Given the description of an element on the screen output the (x, y) to click on. 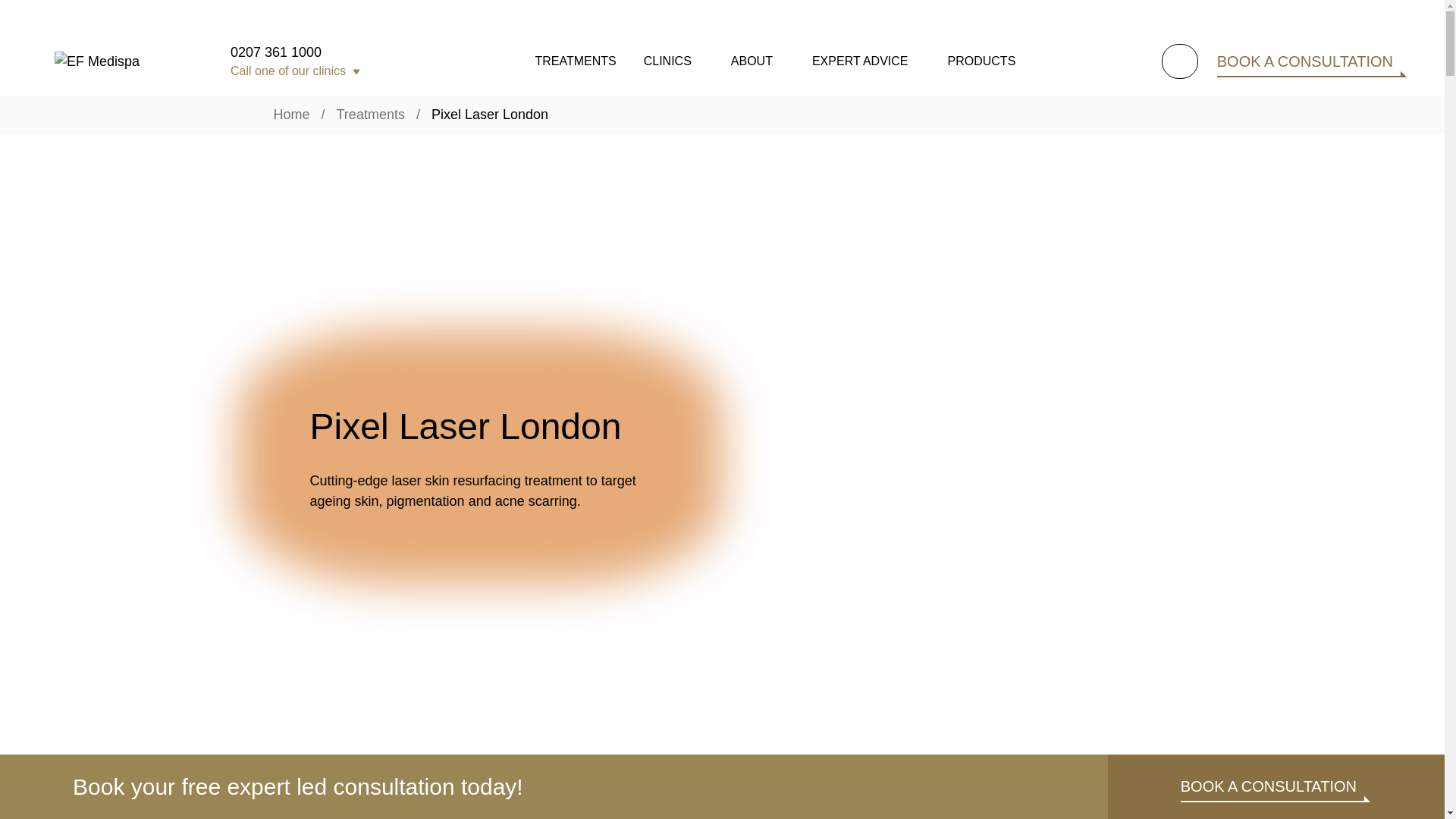
Call St. John's Wood (302, 220)
Call Chelsea (302, 170)
ABOUT (751, 60)
CLINICS (667, 60)
020 7937 5554 (302, 120)
TREATMENTS (574, 60)
REQUEST A CALLBACK (313, 255)
PRODUCTS (981, 61)
EXPERT ADVICE (860, 60)
EF Medispa (119, 61)
PRODUCTS (981, 61)
Search (1181, 60)
Call Kensington (302, 120)
0207 361 1000 (302, 51)
Search (1181, 61)
